Given the description of an element on the screen output the (x, y) to click on. 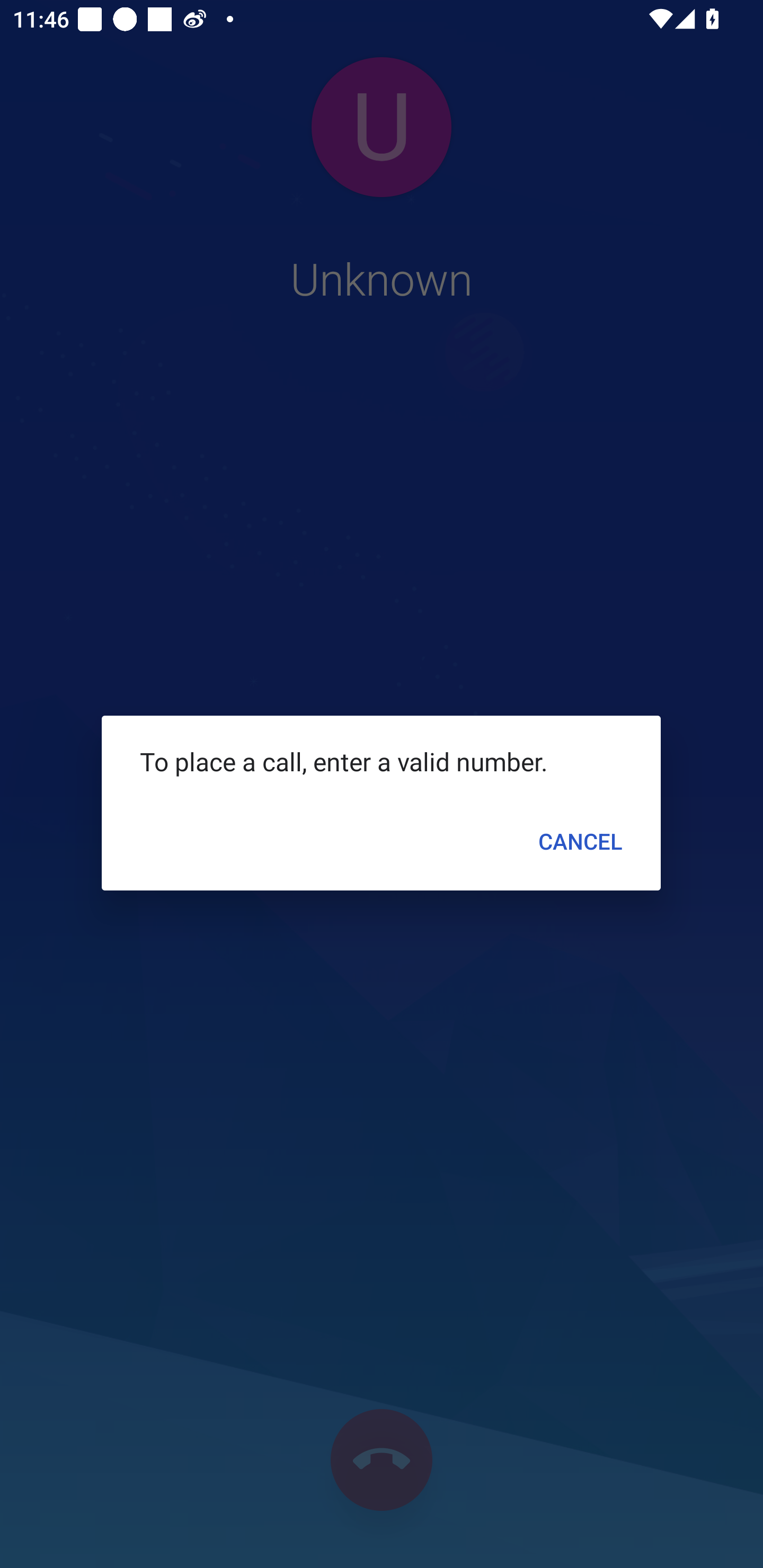
CANCEL (580, 841)
